Given the description of an element on the screen output the (x, y) to click on. 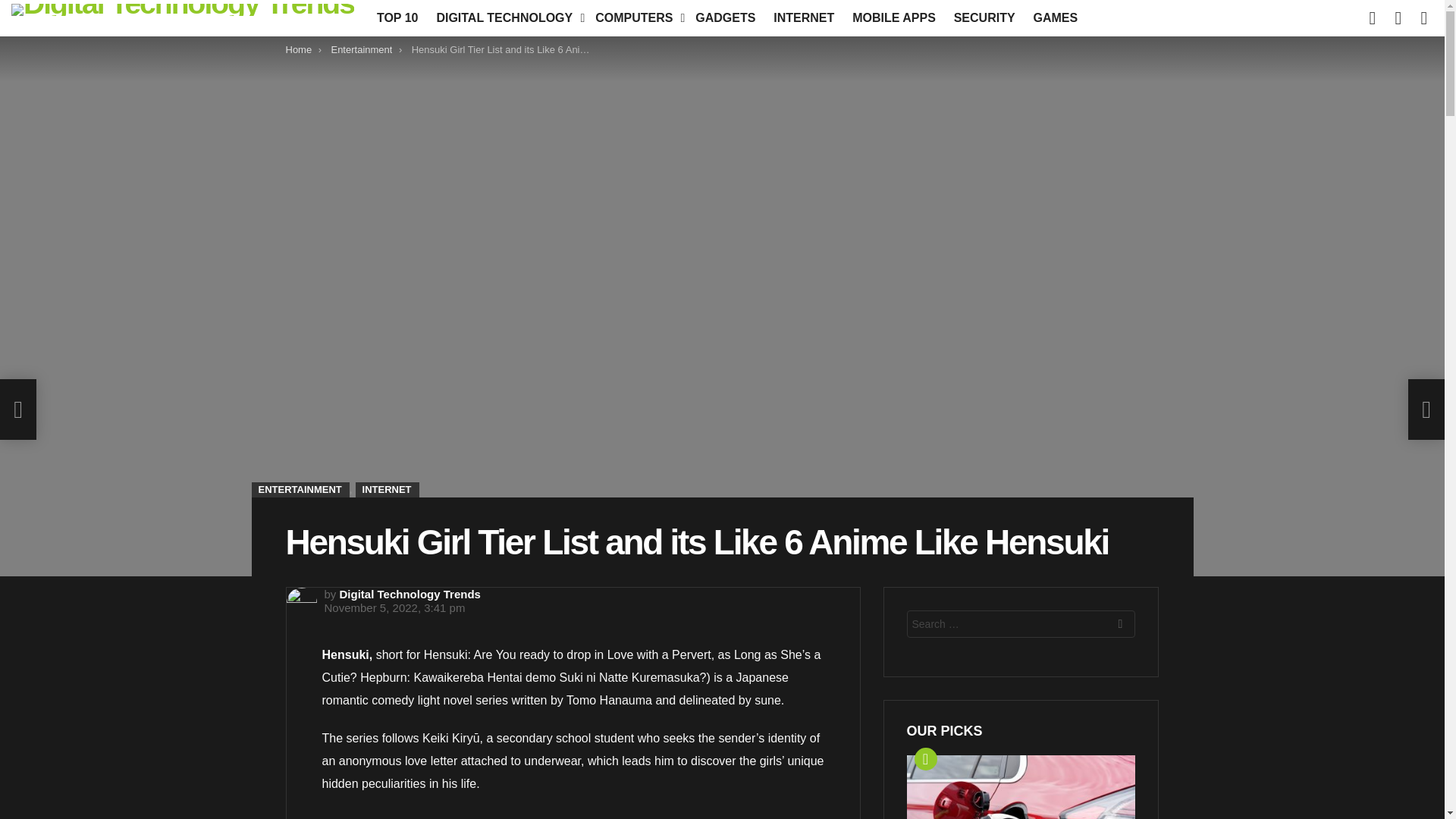
TOP 10 (397, 17)
Digital Technology Trends (409, 594)
MOBILE APPS (893, 17)
COMPUTERS (636, 17)
Entertainment (360, 49)
Home (298, 49)
INTERNET (387, 489)
GADGETS (724, 17)
INTERNET (803, 17)
SECURITY (984, 17)
DIGITAL TECHNOLOGY (506, 17)
ENTERTAINMENT (300, 489)
Posts by Digital Technology Trends (409, 594)
GAMES (1054, 17)
